Given the description of an element on the screen output the (x, y) to click on. 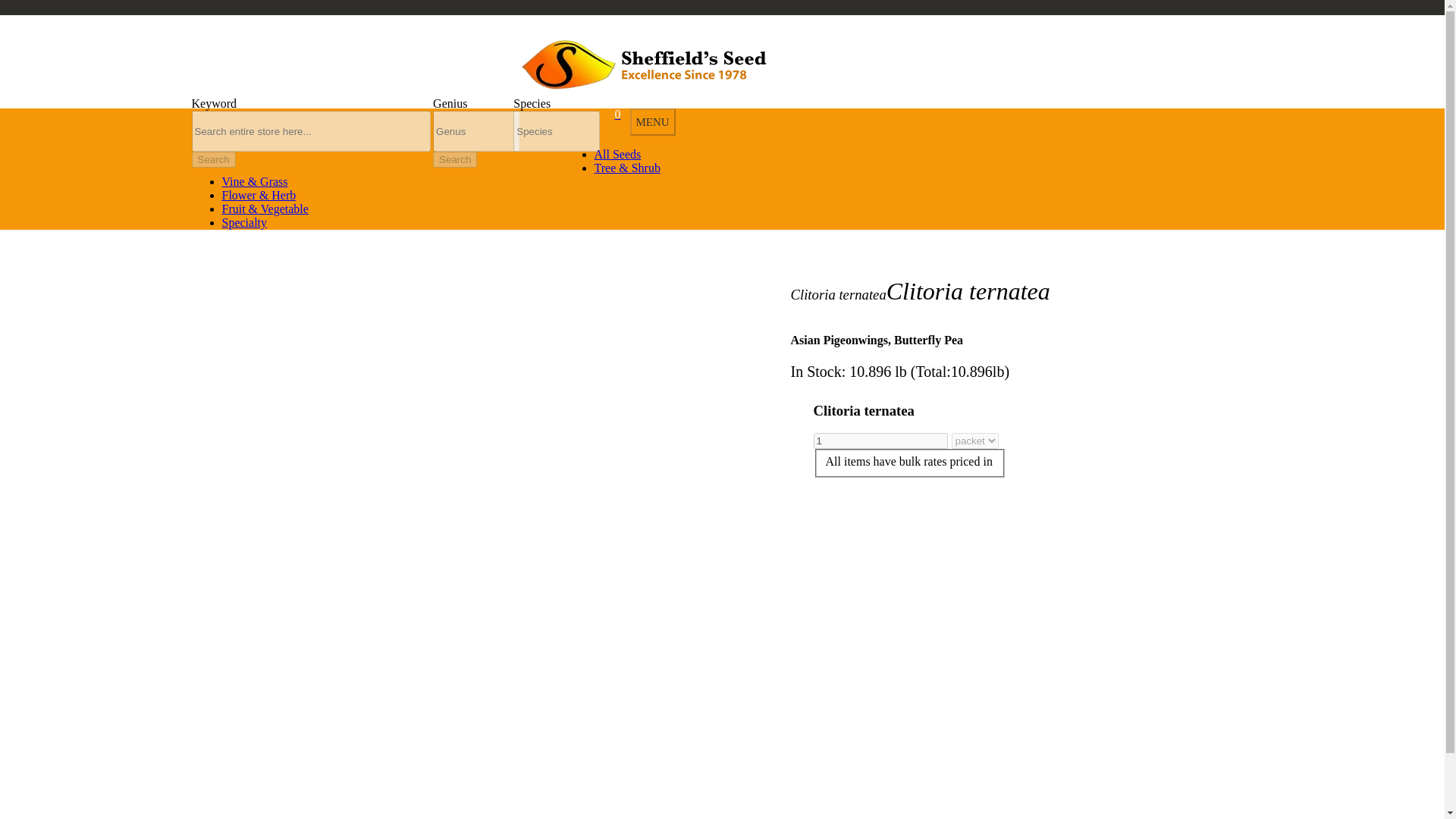
species (556, 130)
Search (454, 159)
All Seeds (618, 154)
0 (612, 113)
Search (212, 159)
1 (879, 440)
Add to Cart (119, 16)
Specialty (243, 222)
Title (310, 130)
MENU (651, 121)
